Given the description of an element on the screen output the (x, y) to click on. 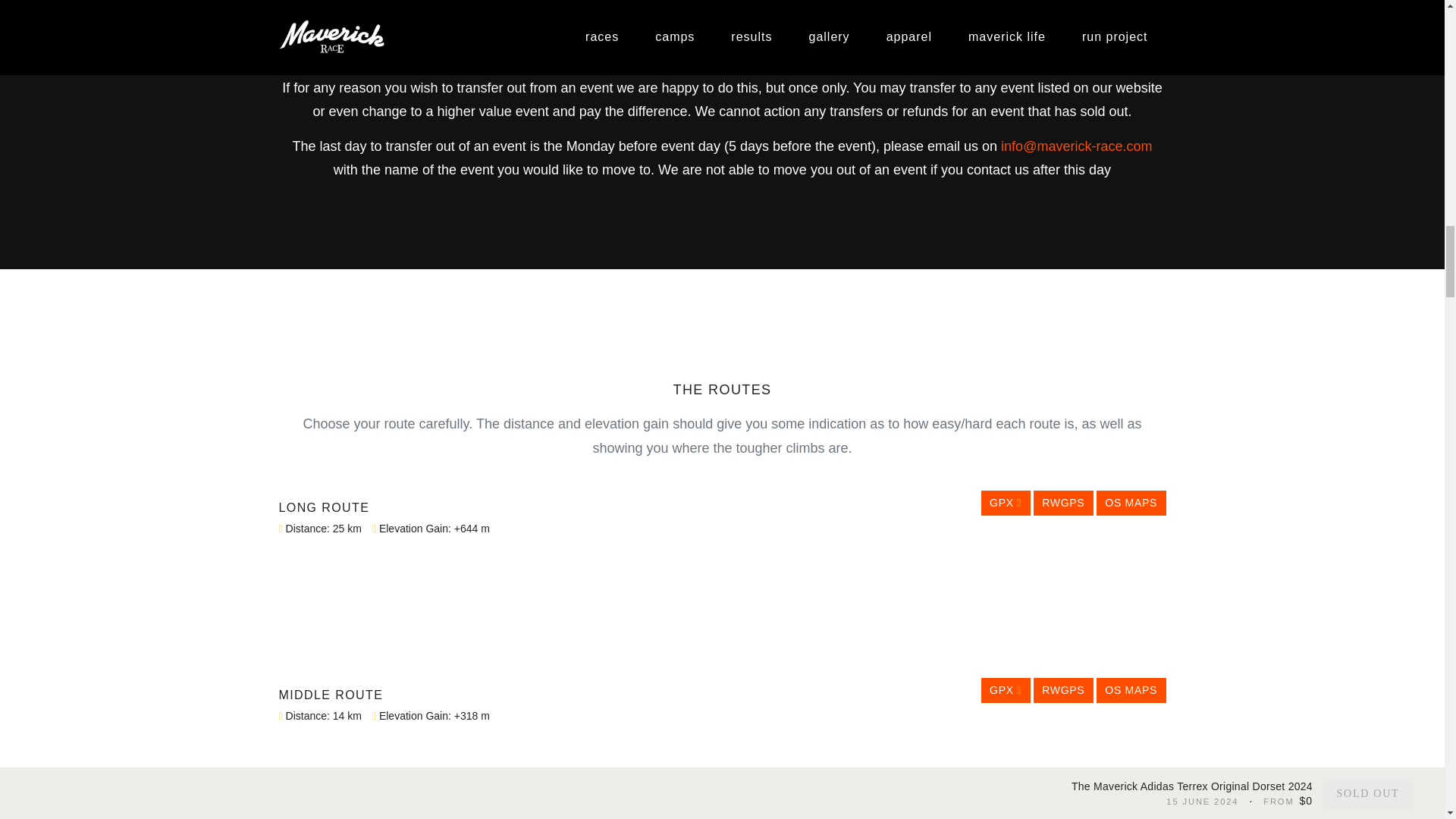
RWGPS (1063, 690)
OS MAPS (1131, 503)
View route on Ordnance Survey Maps (1131, 690)
RWGPS (1063, 503)
OS MAPS (1131, 690)
View route on Ordnance Survey Maps (1131, 503)
GPX (1005, 690)
GPX (1005, 503)
View route on Ride With GPS (1063, 503)
View route on Ride With GPS (1063, 690)
